Given the description of an element on the screen output the (x, y) to click on. 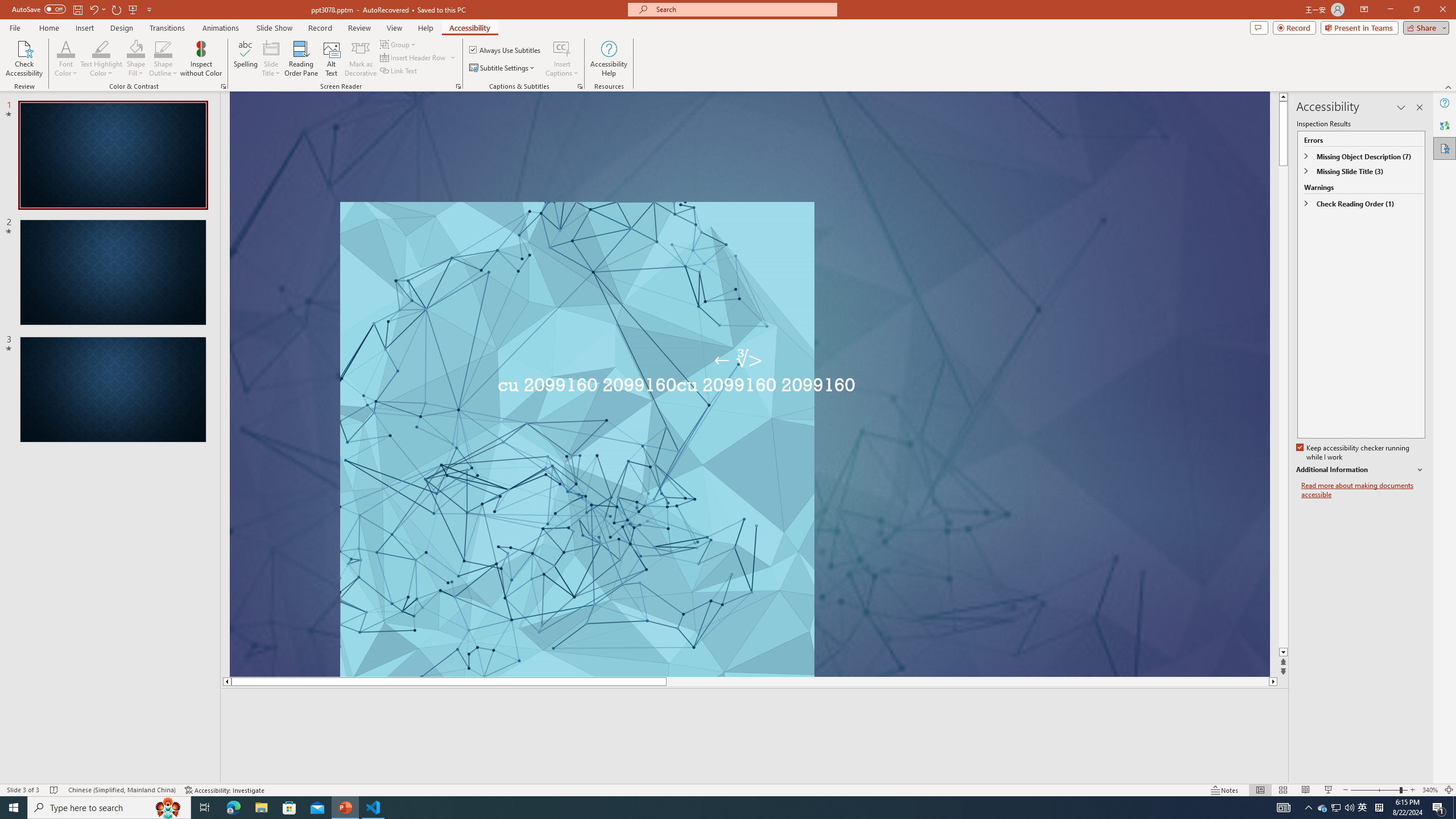
Group (398, 44)
Screen Reader (458, 85)
Zoom 340% (1430, 790)
Color & Contrast (223, 85)
